Given the description of an element on the screen output the (x, y) to click on. 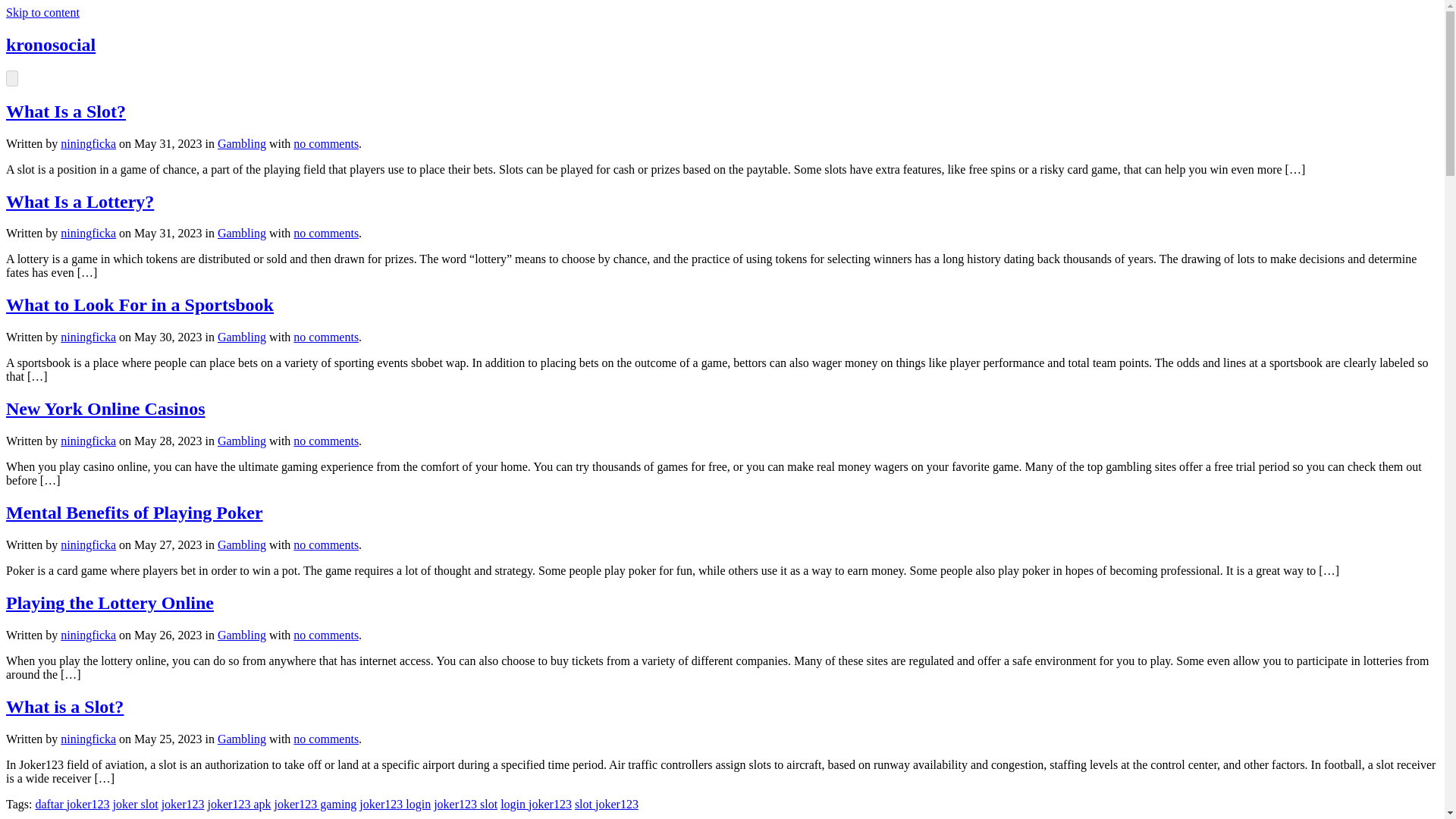
niningficka (88, 336)
kronosocial (50, 44)
no comments (326, 738)
niningficka (88, 544)
Gambling (241, 143)
Skip to content (42, 11)
Gambling (241, 738)
daftar joker123 (71, 803)
Gambling (241, 544)
niningficka (88, 738)
niningficka (88, 143)
no comments (326, 440)
no comments (326, 738)
niningficka (88, 440)
joker slot (135, 803)
